Given the description of an element on the screen output the (x, y) to click on. 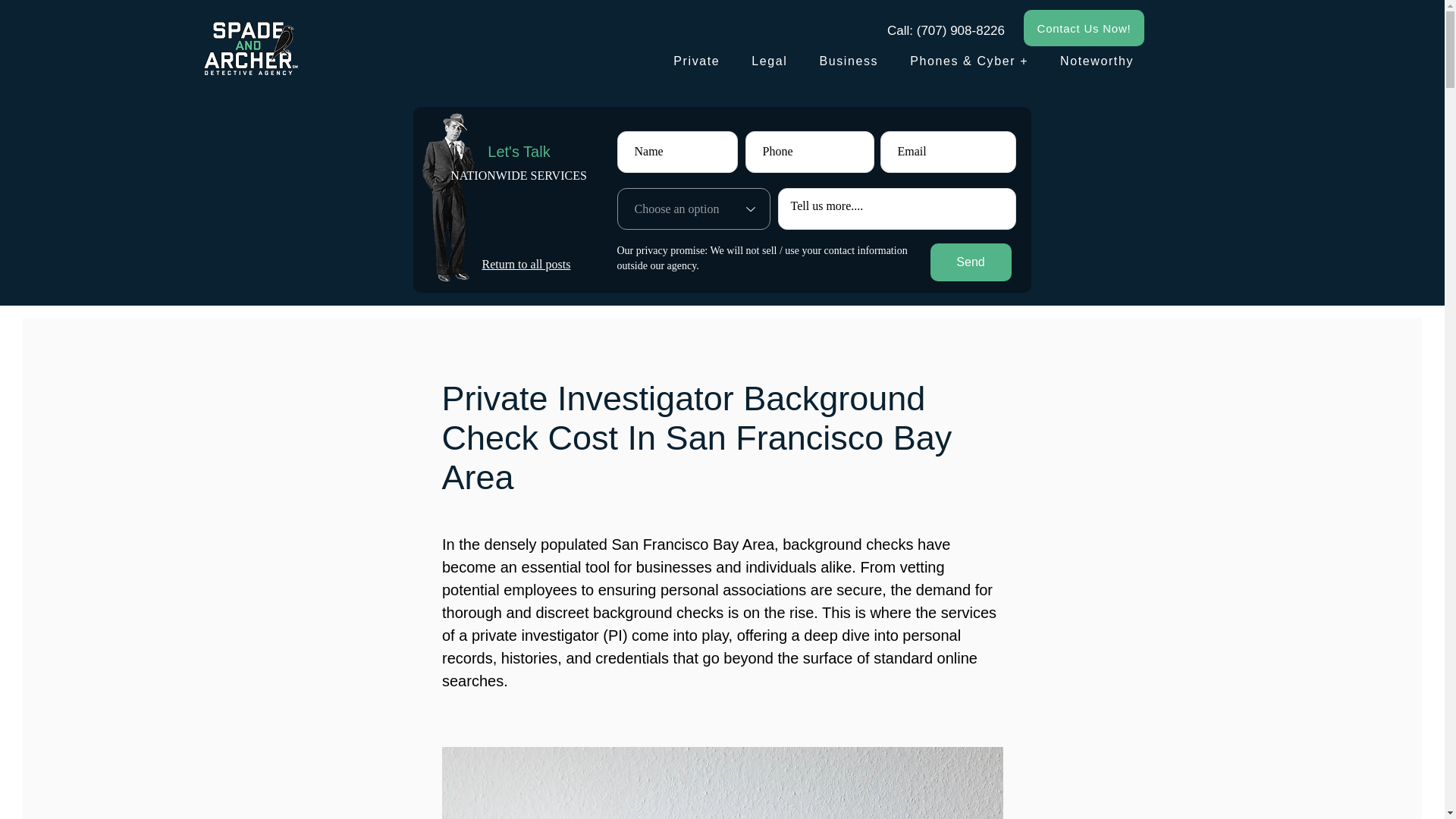
Send (970, 262)
Contact Us Now! (1083, 27)
Return To Home (248, 47)
Return to all posts (525, 264)
